Given the description of an element on the screen output the (x, y) to click on. 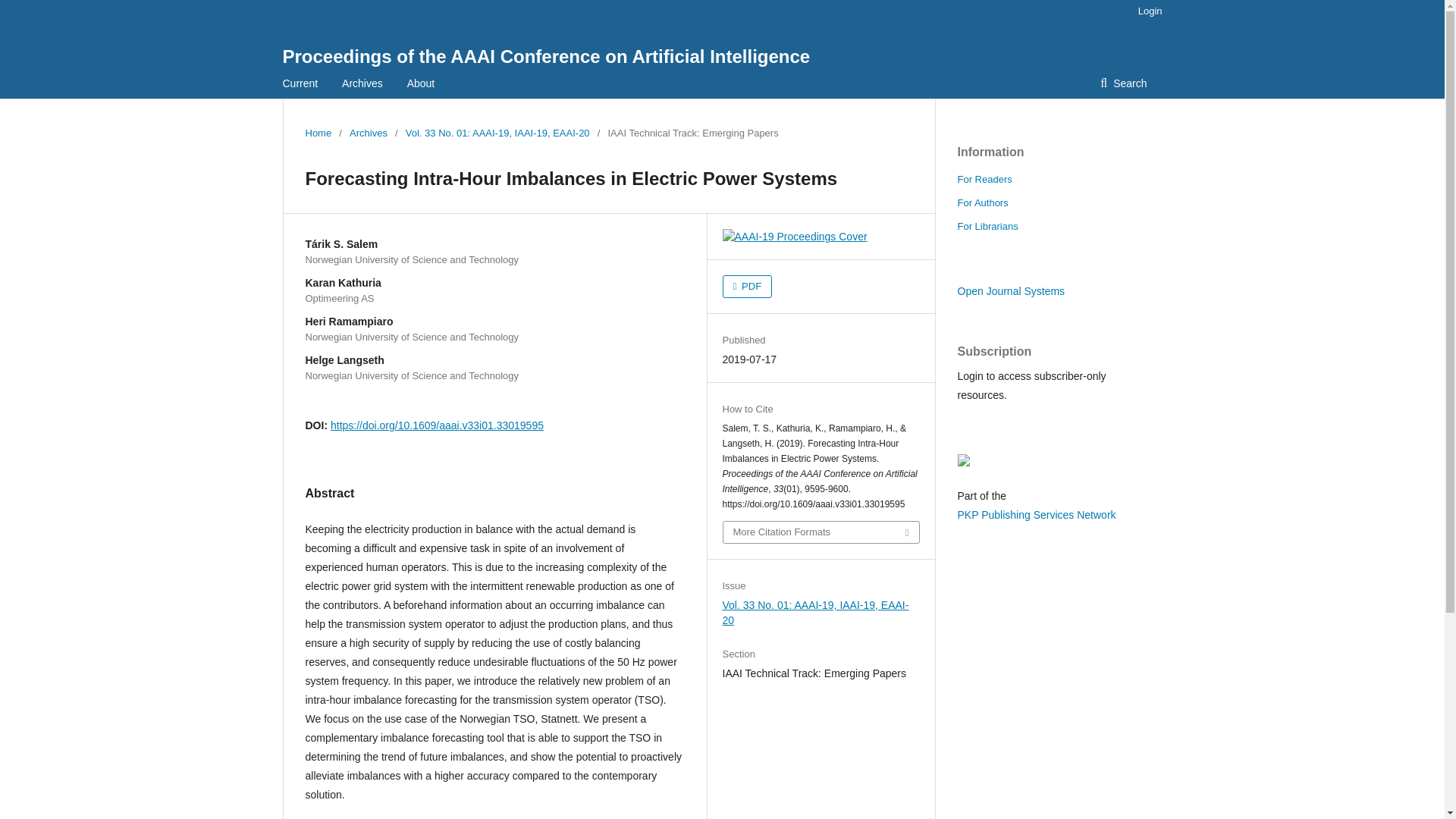
Archives (362, 82)
Home (317, 133)
PDF (746, 286)
More Citation Formats (820, 531)
About (421, 82)
Archives (368, 133)
Login (1146, 11)
Vol. 33 No. 01: AAAI-19, IAAI-19, EAAI-20 (497, 133)
Search (1122, 82)
Current (299, 82)
